Given the description of an element on the screen output the (x, y) to click on. 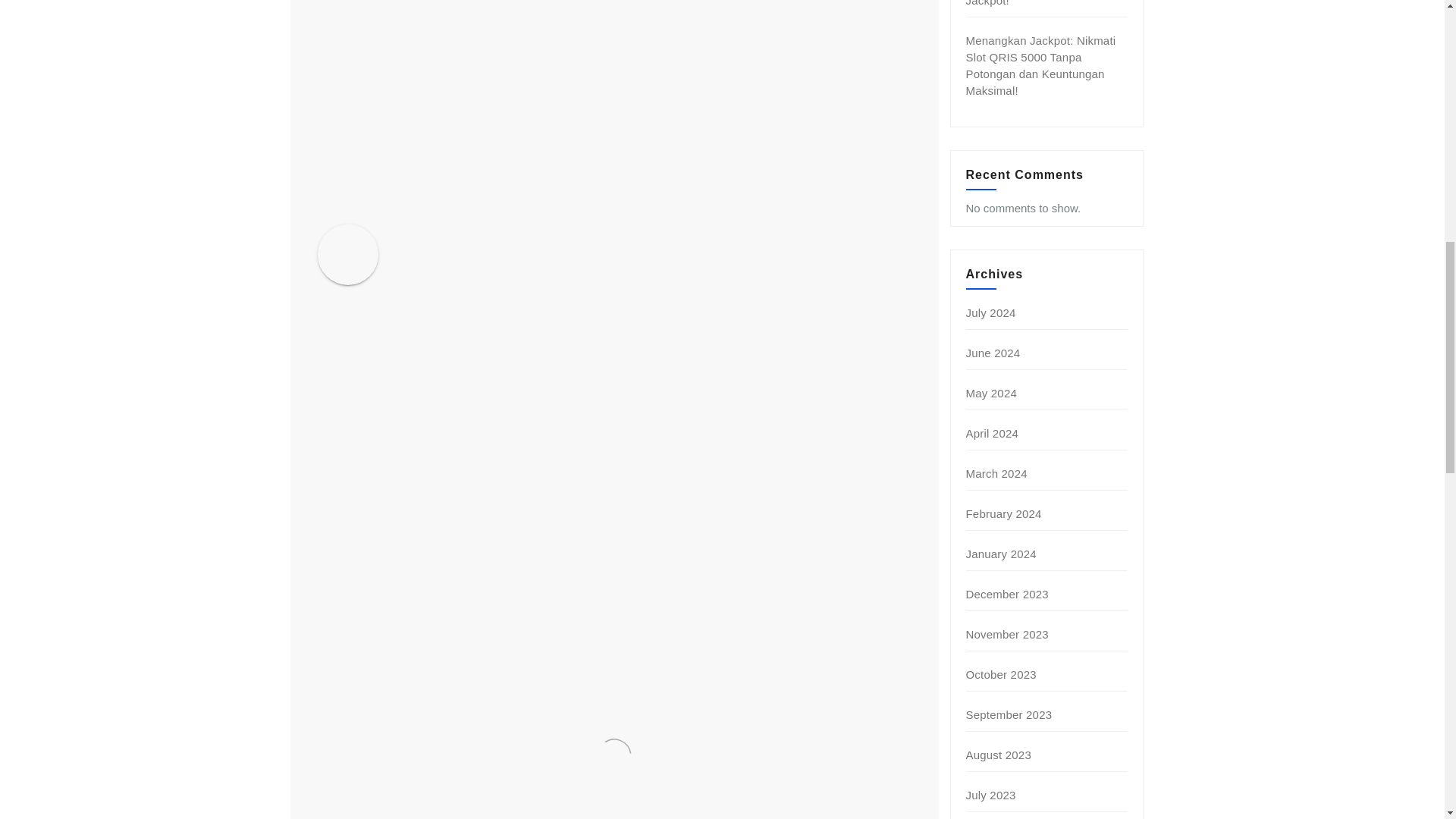
January 2024 (1001, 553)
March 2024 (996, 472)
November 2023 (1007, 634)
August 2023 (998, 754)
admintie (474, 236)
July 2024 (991, 312)
October 2023 (1001, 674)
June 2024 (993, 352)
April 2024 (992, 432)
December 2023 (1007, 594)
May 2024 (991, 392)
September 2023 (1009, 714)
July 2023 (991, 794)
